Given the description of an element on the screen output the (x, y) to click on. 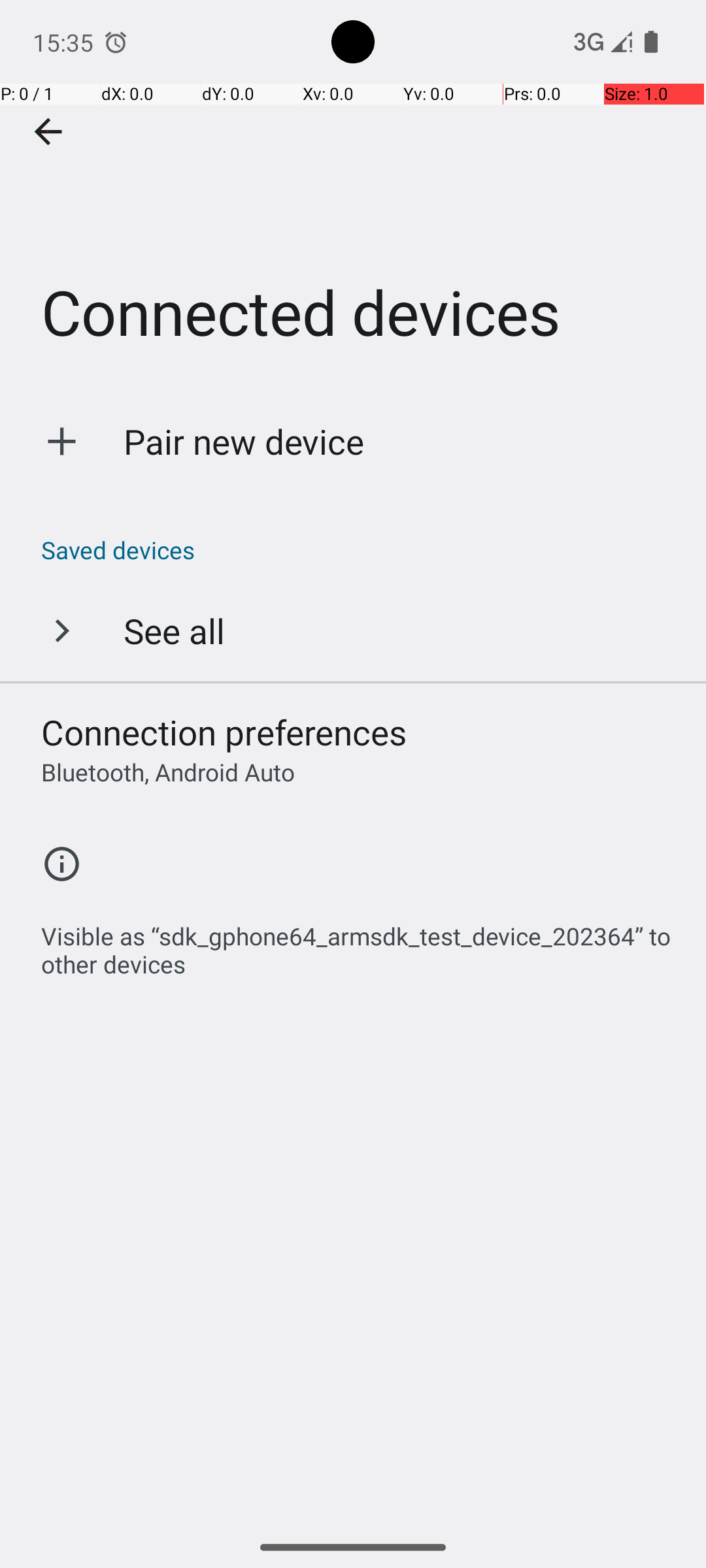
Visible as “sdk_gphone64_armsdk_test_device_202364” to other devices Element type: android.widget.TextView (359, 942)
